Given the description of an element on the screen output the (x, y) to click on. 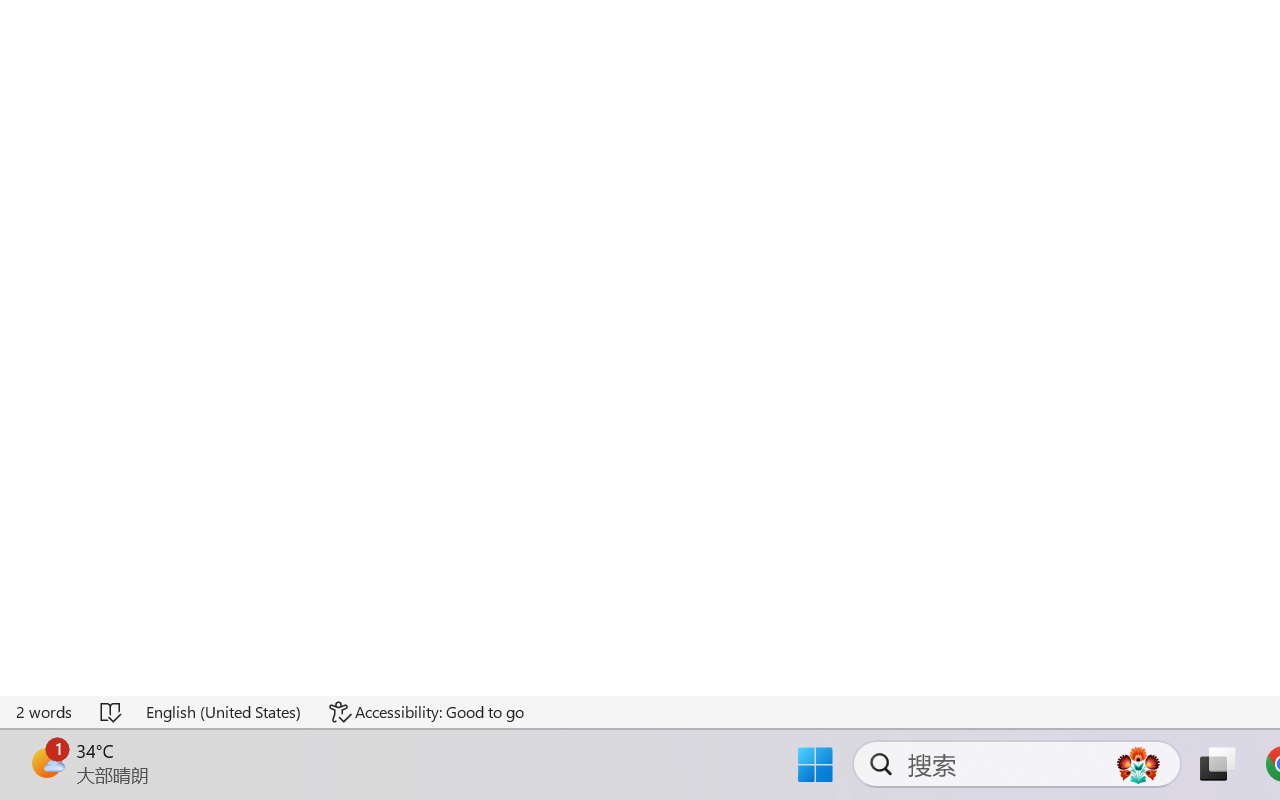
Accessibility Checker Accessibility: Good to go (426, 712)
Language English (United States) (224, 712)
Spelling and Grammar Check No Errors (112, 712)
AutomationID: DynamicSearchBoxGleamImage (1138, 764)
AutomationID: BadgeAnchorLargeTicker (46, 762)
Word Count 2 words (45, 712)
